Given the description of an element on the screen output the (x, y) to click on. 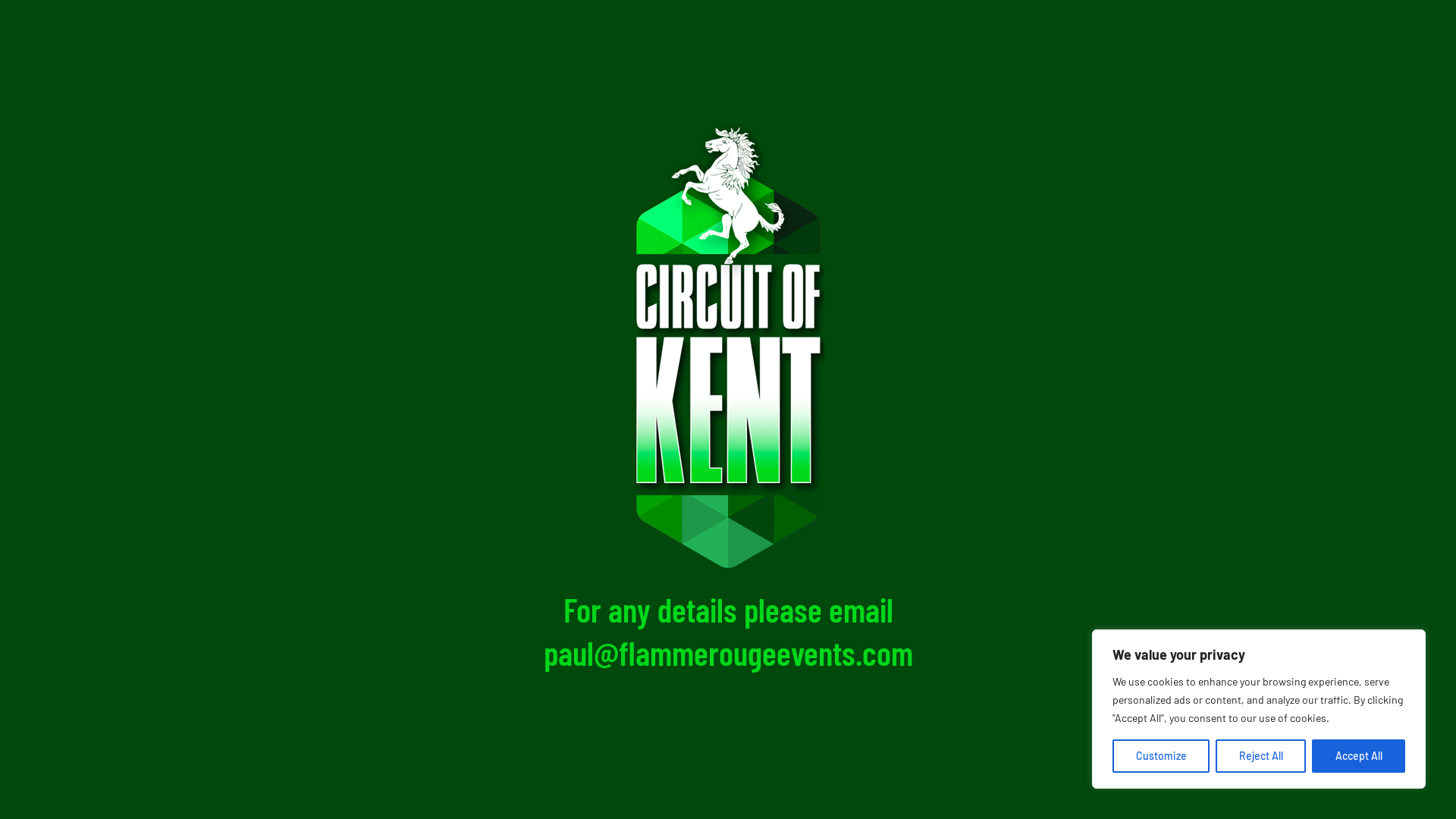
Customize Element type: text (1160, 755)
Accept All Element type: text (1358, 755)
Reject All Element type: text (1260, 755)
paul@flammerougeevents.com Element type: text (727, 652)
